Given the description of an element on the screen output the (x, y) to click on. 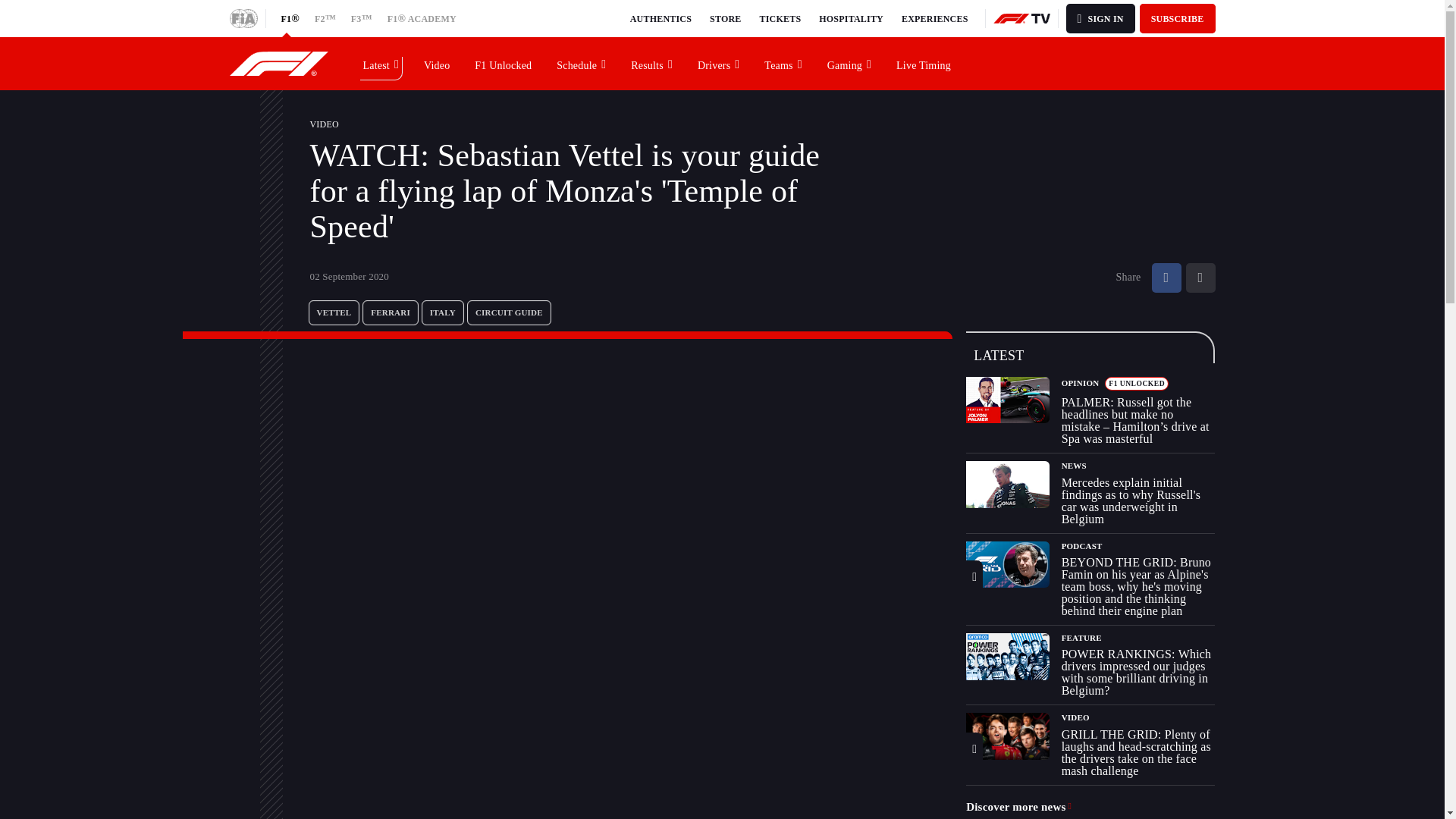
Live Timing (923, 63)
Results (651, 63)
SUBSCRIBE (1177, 18)
AUTHENTICS (660, 18)
Schedule (581, 63)
HOSPITALITY (850, 18)
STORE (725, 18)
SIGN IN (1100, 18)
Drivers (718, 63)
ITALY (443, 312)
VETTEL (333, 312)
Discover more news (1018, 807)
CIRCUIT GUIDE (509, 312)
F1 Unlocked (503, 63)
